Given the description of an element on the screen output the (x, y) to click on. 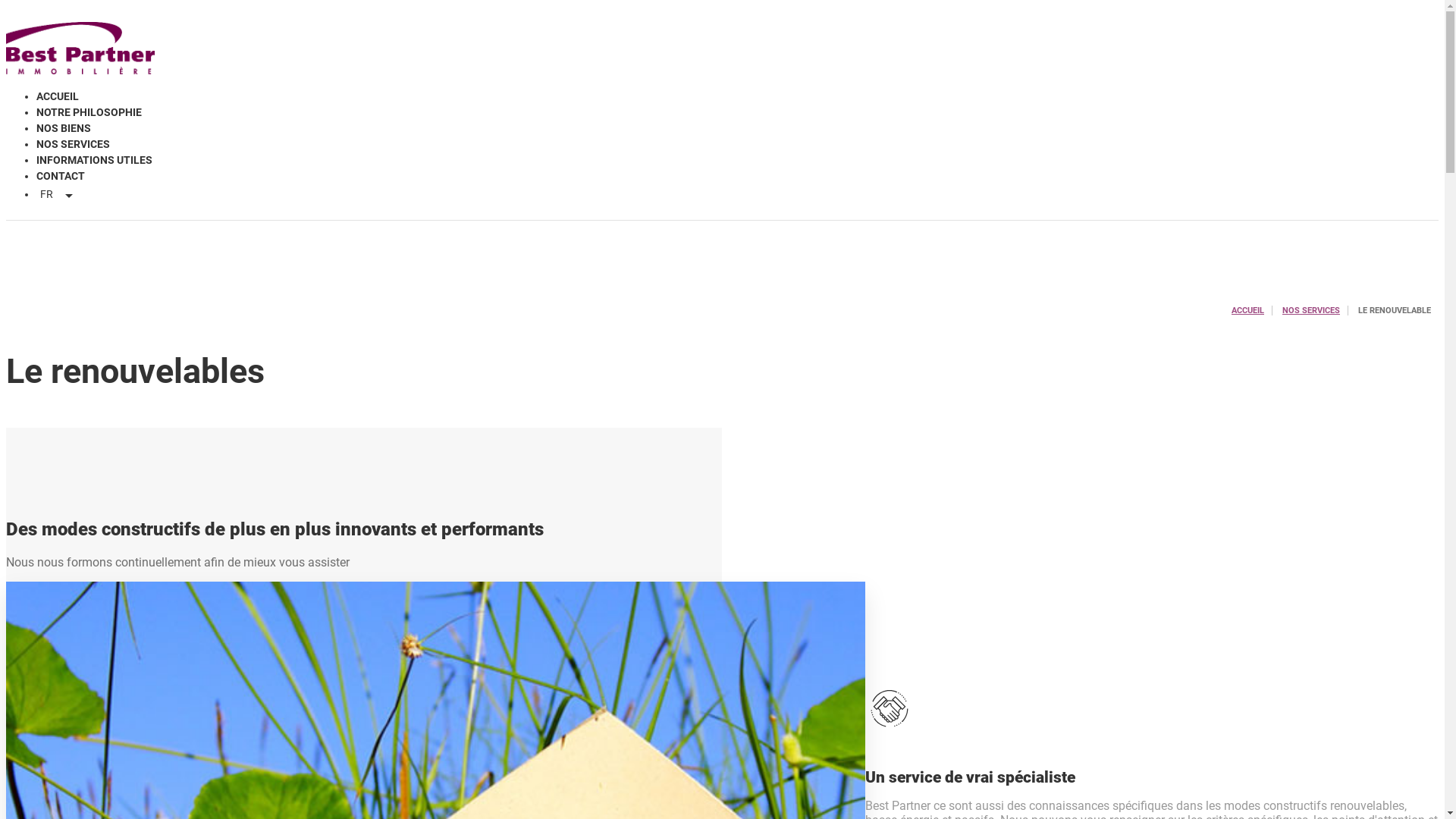
CONTACT Element type: text (732, 176)
NOS BIENS Element type: text (732, 129)
ACCUEIL Element type: text (1247, 310)
NOTRE PHILOSOPHIE Element type: text (732, 113)
NOS SERVICES Element type: text (1310, 310)
ACCUEIL Element type: text (732, 97)
FR  Element type: text (57, 195)
INFORMATIONS UTILES Element type: text (732, 160)
NOS SERVICES Element type: text (732, 145)
